Given the description of an element on the screen output the (x, y) to click on. 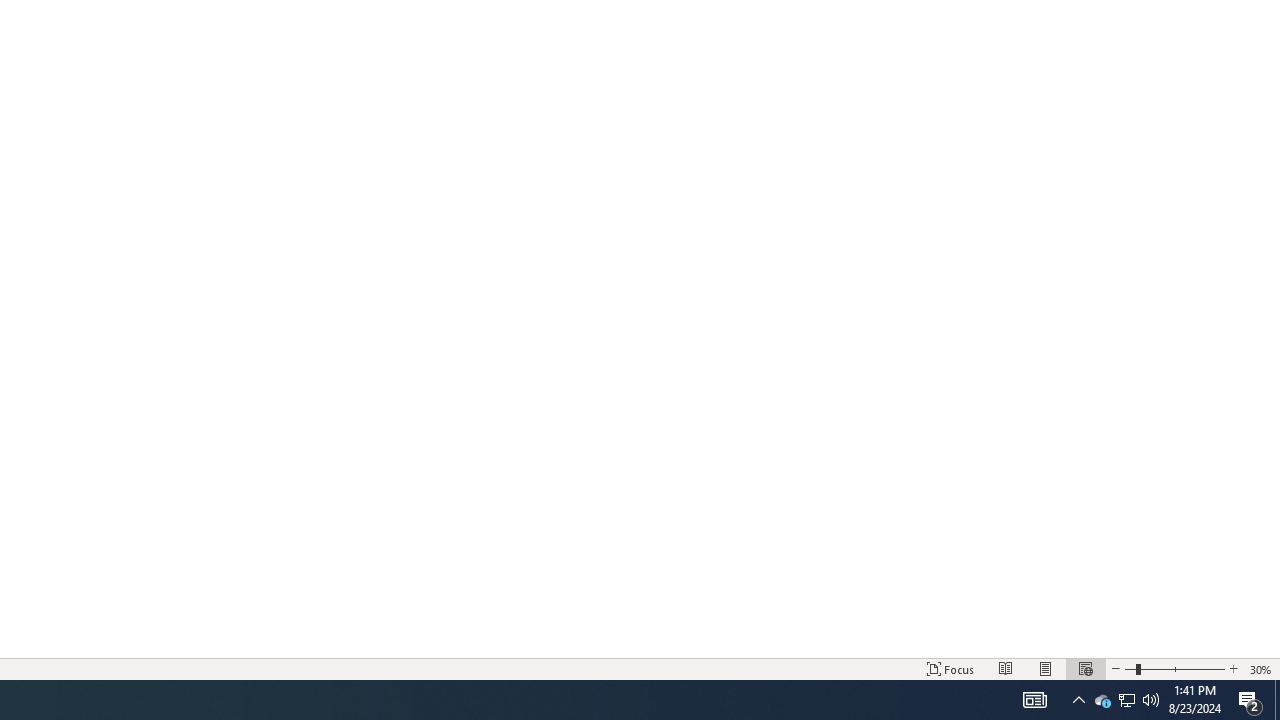
Read Mode (1005, 668)
Zoom (1174, 668)
Print Layout (1046, 668)
Focus  (951, 668)
Zoom 30% (1261, 668)
Zoom In (1233, 668)
Zoom Out (1130, 668)
Web Layout (1085, 668)
